Given the description of an element on the screen output the (x, y) to click on. 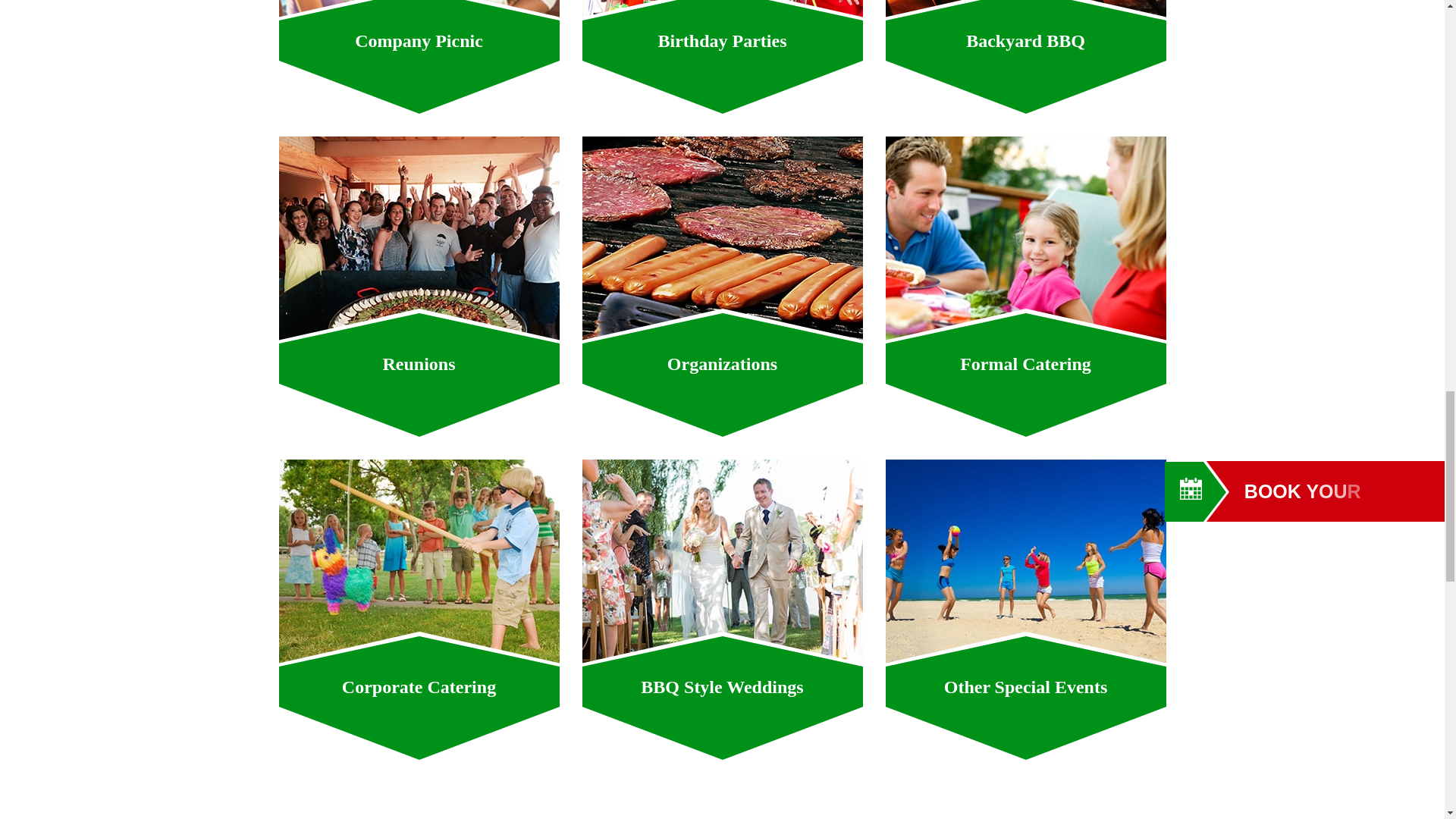
Reunions (419, 239)
Organizations (722, 239)
Company Picnic (419, 10)
Formal Catering (1025, 239)
BBQ Style Weddings (722, 562)
Corporate Catering (419, 562)
Other Special Events (1025, 562)
Backyard BBQ (1025, 10)
Birthday Parties (722, 10)
